Given the description of an element on the screen output the (x, y) to click on. 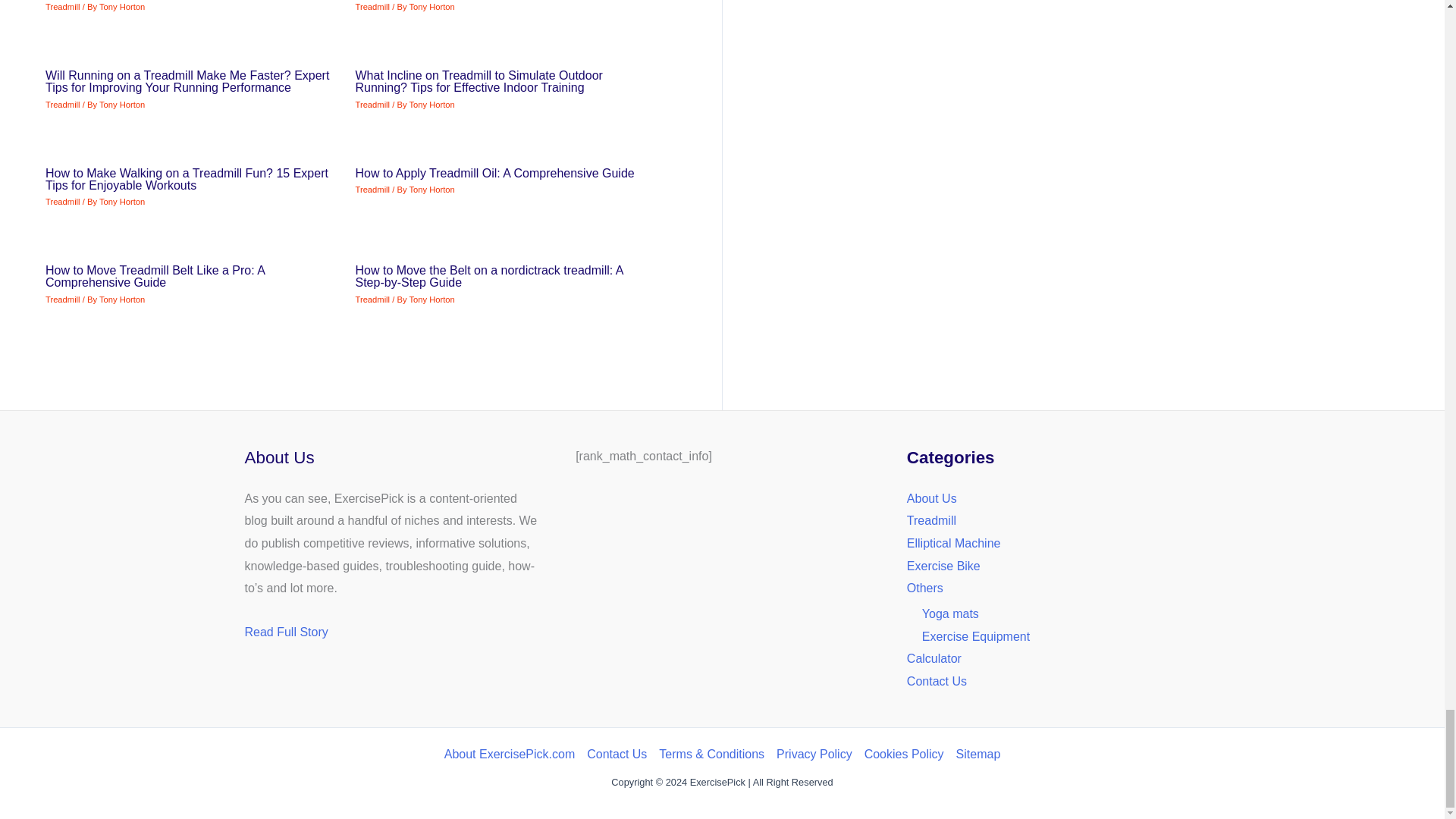
View all posts by Tony Horton (121, 298)
View all posts by Tony Horton (431, 189)
View all posts by Tony Horton (121, 103)
View all posts by Tony Horton (431, 298)
View all posts by Tony Horton (431, 103)
View all posts by Tony Horton (121, 6)
View all posts by Tony Horton (431, 6)
View all posts by Tony Horton (121, 201)
